Given the description of an element on the screen output the (x, y) to click on. 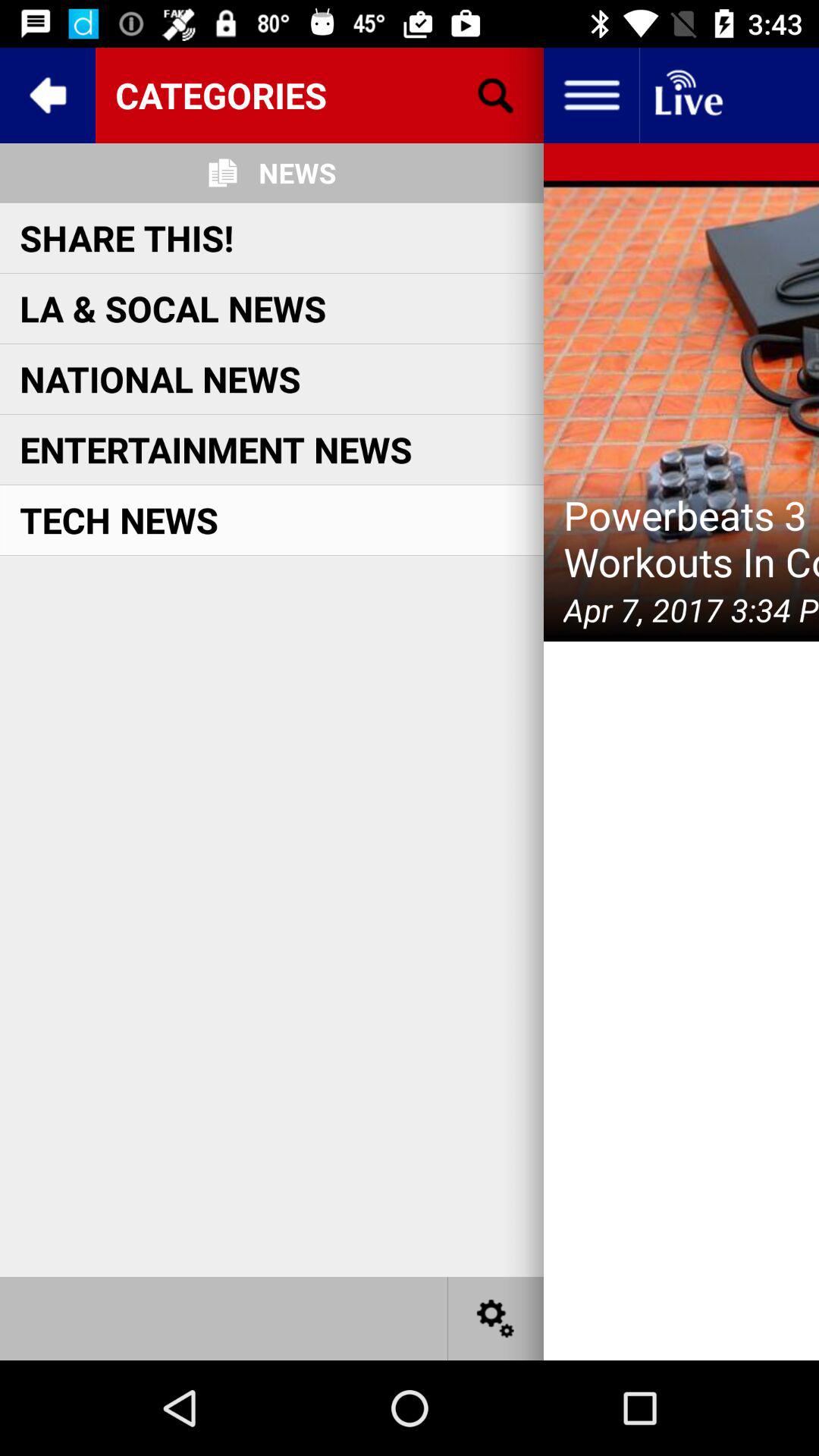
he can activate the simple voice command (687, 95)
